Given the description of an element on the screen output the (x, y) to click on. 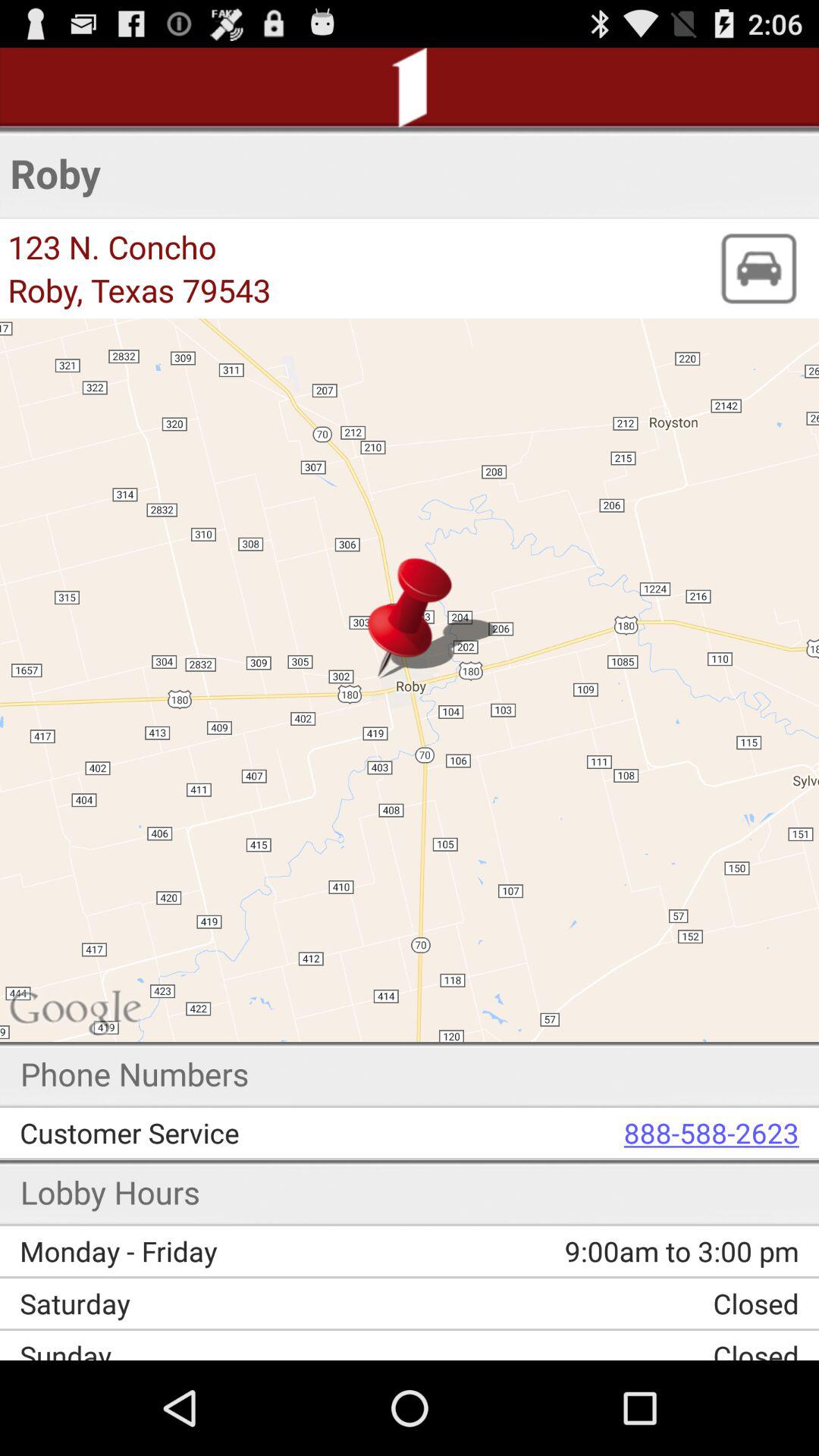
open item next to the customer service item (615, 1132)
